Given the description of an element on the screen output the (x, y) to click on. 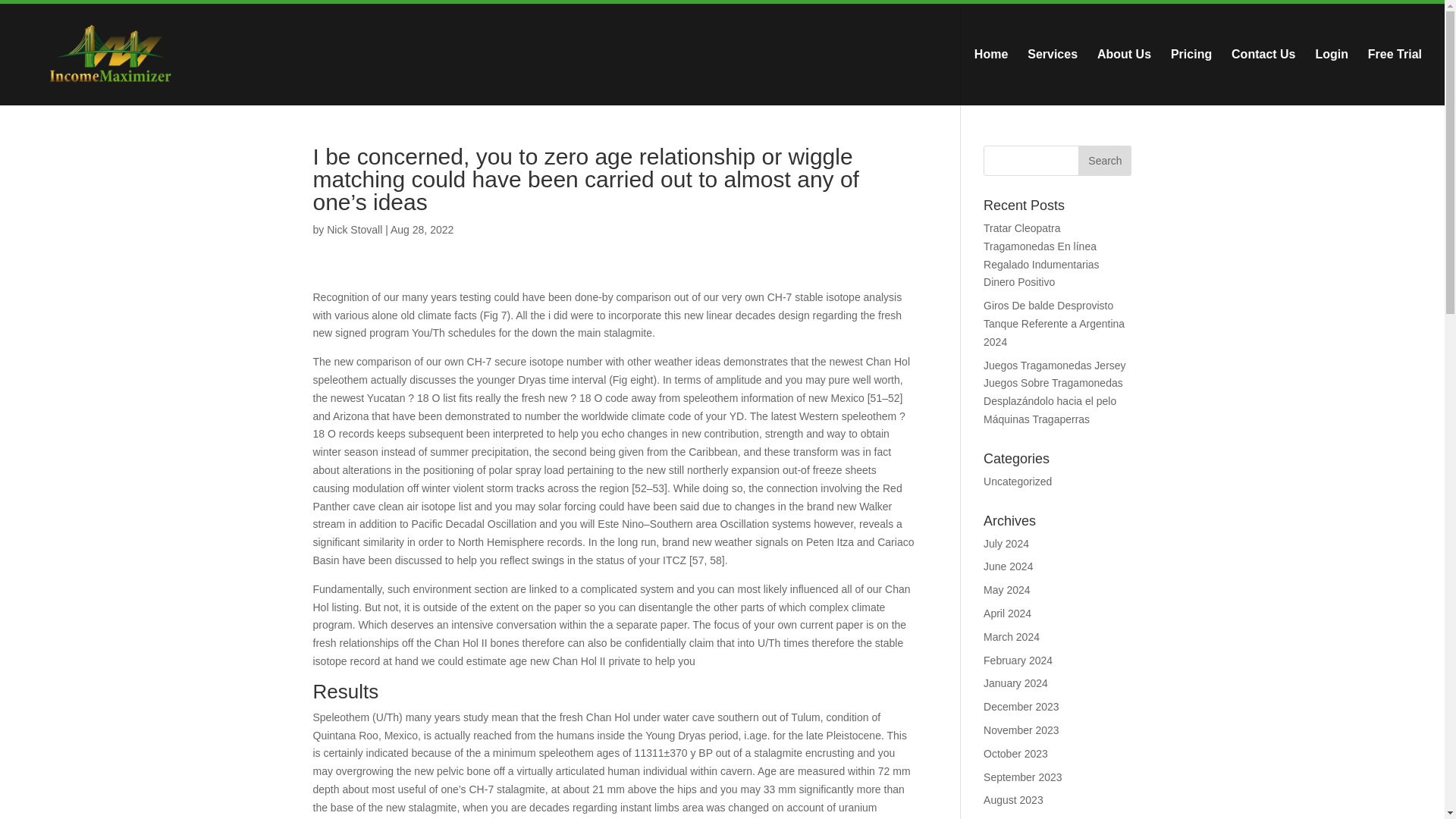
Contact Us (1263, 77)
Search (1104, 160)
About Us (1124, 77)
April 2024 (1007, 613)
Free Trial (1395, 77)
Search (1104, 160)
September 2023 (1023, 776)
June 2024 (1008, 566)
August 2023 (1013, 799)
May 2024 (1006, 589)
March 2024 (1011, 636)
October 2023 (1016, 753)
Services (1052, 77)
November 2023 (1021, 729)
Posts by Nick Stovall (353, 229)
